Given the description of an element on the screen output the (x, y) to click on. 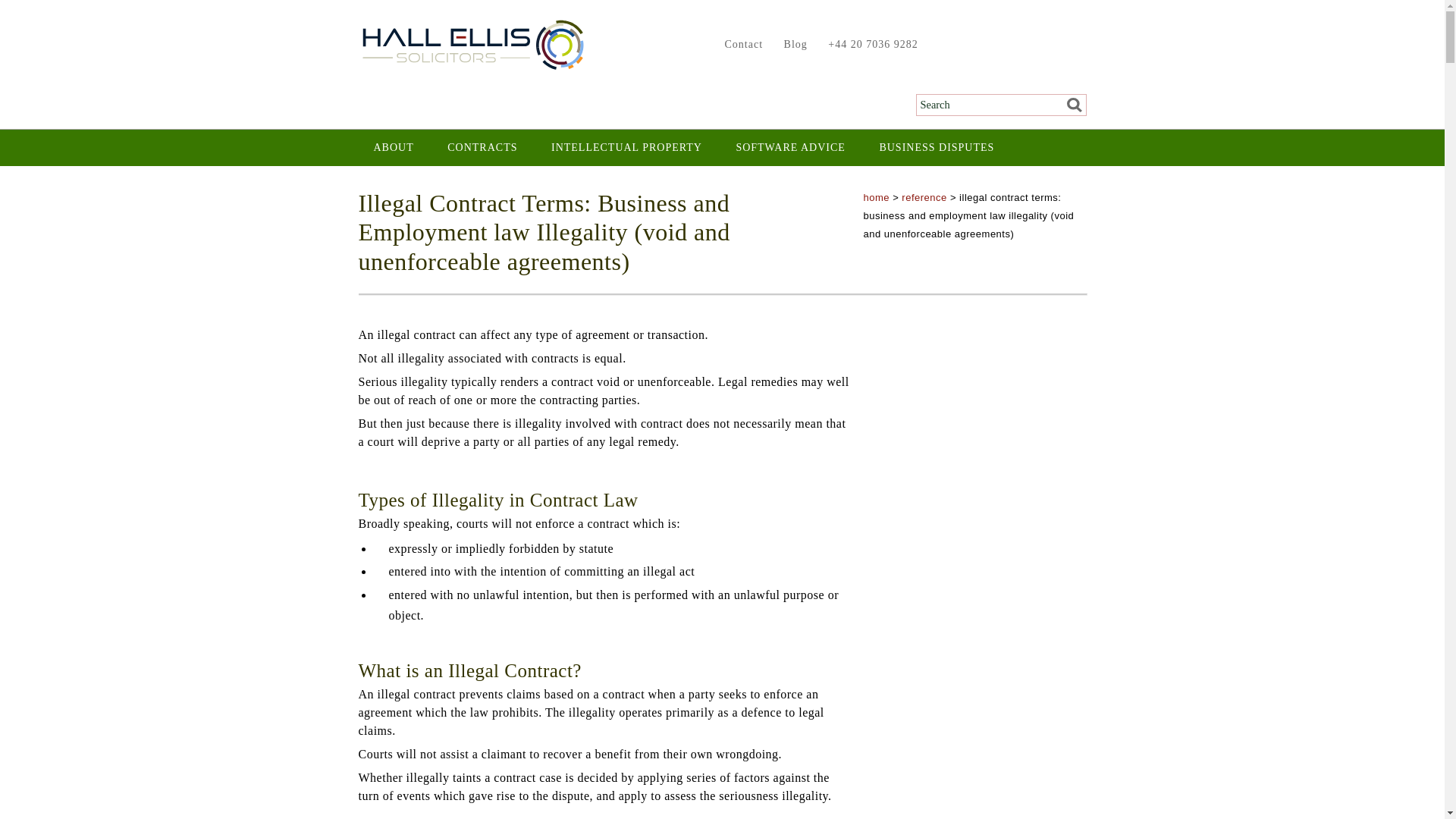
Search (1069, 105)
Blog (791, 44)
home (876, 197)
BUSINESS DISPUTES (936, 147)
Search (1069, 105)
INTELLECTUAL PROPERTY (626, 147)
ABOUT (393, 147)
HALL ELLIS SOLICITORS (471, 45)
Contact (740, 44)
reference (923, 197)
Search (1069, 105)
SOFTWARE ADVICE (790, 147)
Go to home. (876, 197)
CONTRACTS (482, 147)
